Given the description of an element on the screen output the (x, y) to click on. 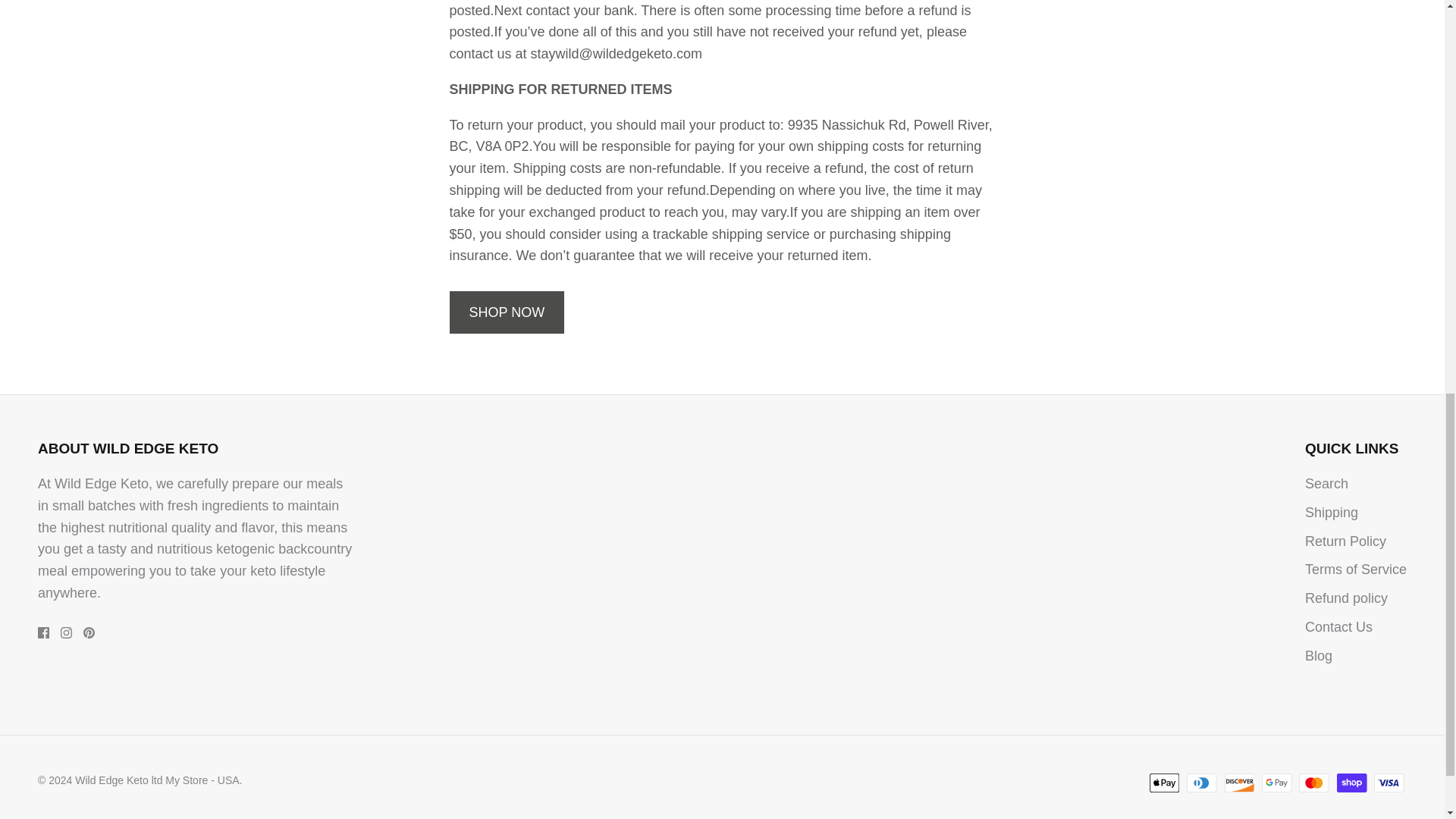
Pinterest (88, 632)
Mastercard (1313, 782)
Google Pay (1276, 782)
Instagram (66, 632)
Discover (1239, 782)
Diners Club (1201, 782)
Facebook (43, 632)
Visa (1388, 782)
Shop Pay (1351, 782)
Apple Pay (1164, 782)
